Given the description of an element on the screen output the (x, y) to click on. 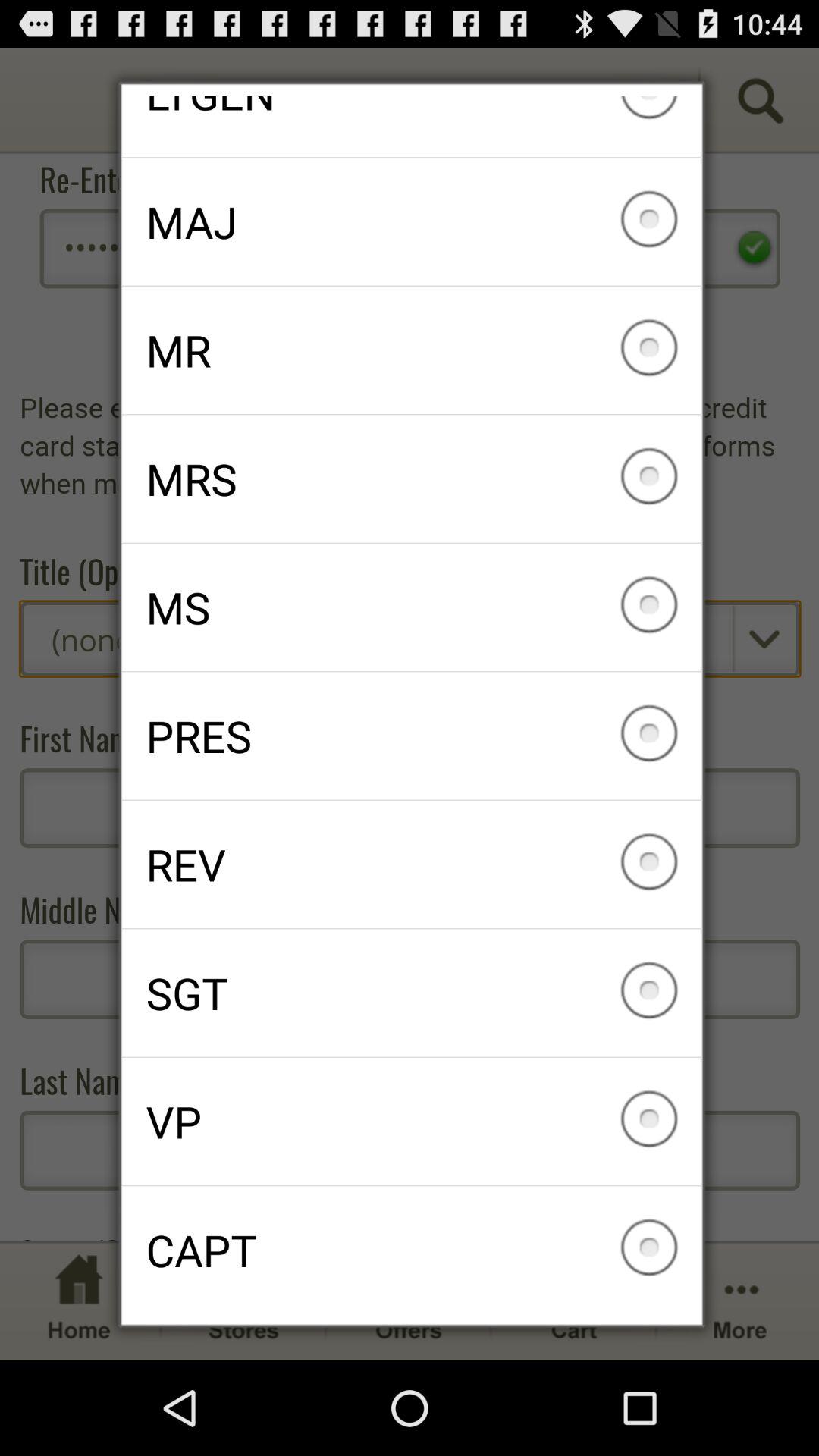
turn on vp icon (411, 1121)
